Given the description of an element on the screen output the (x, y) to click on. 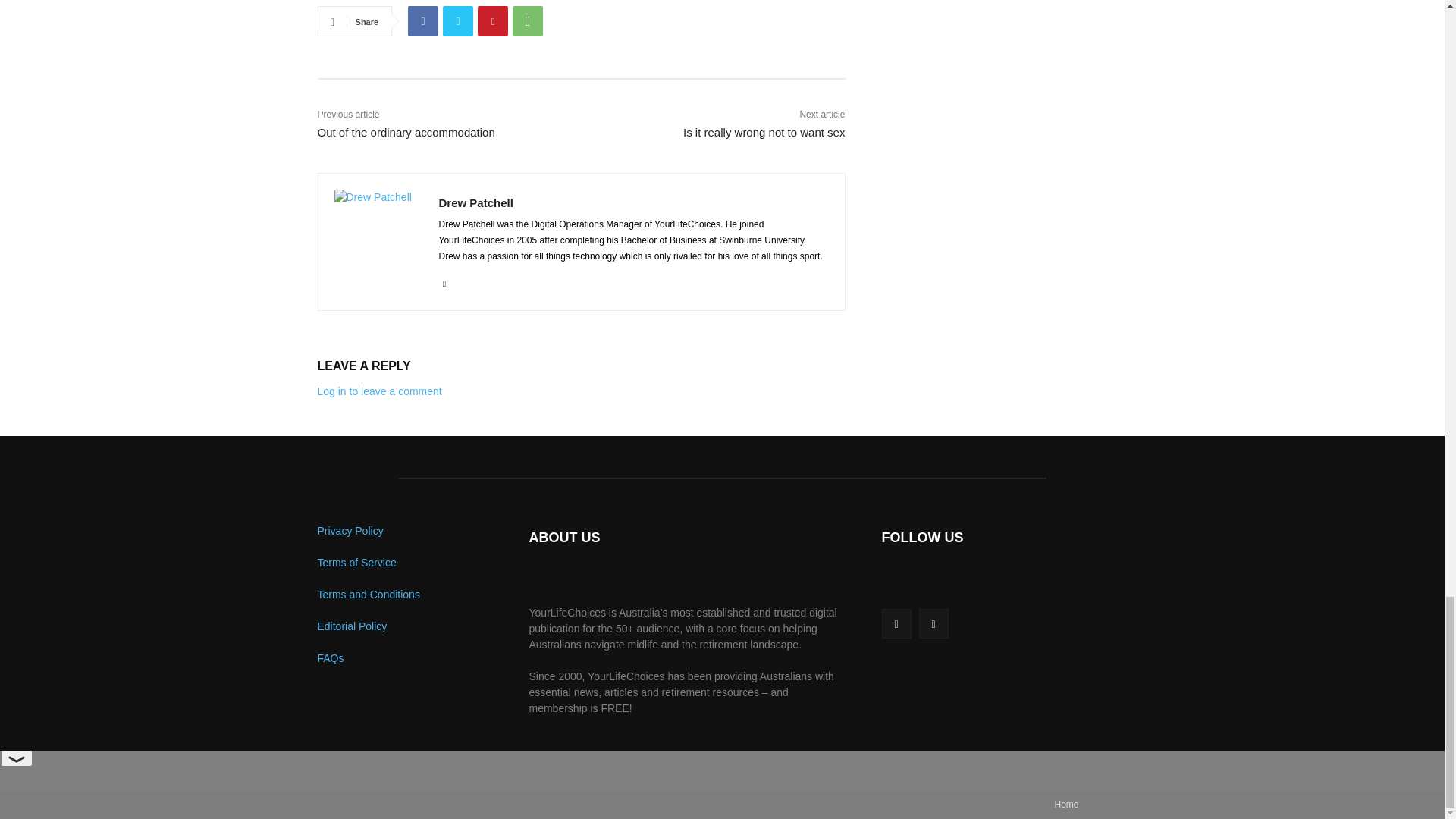
WhatsApp (527, 20)
Facebook (422, 20)
Twitter (457, 20)
Pinterest (492, 20)
